Given the description of an element on the screen output the (x, y) to click on. 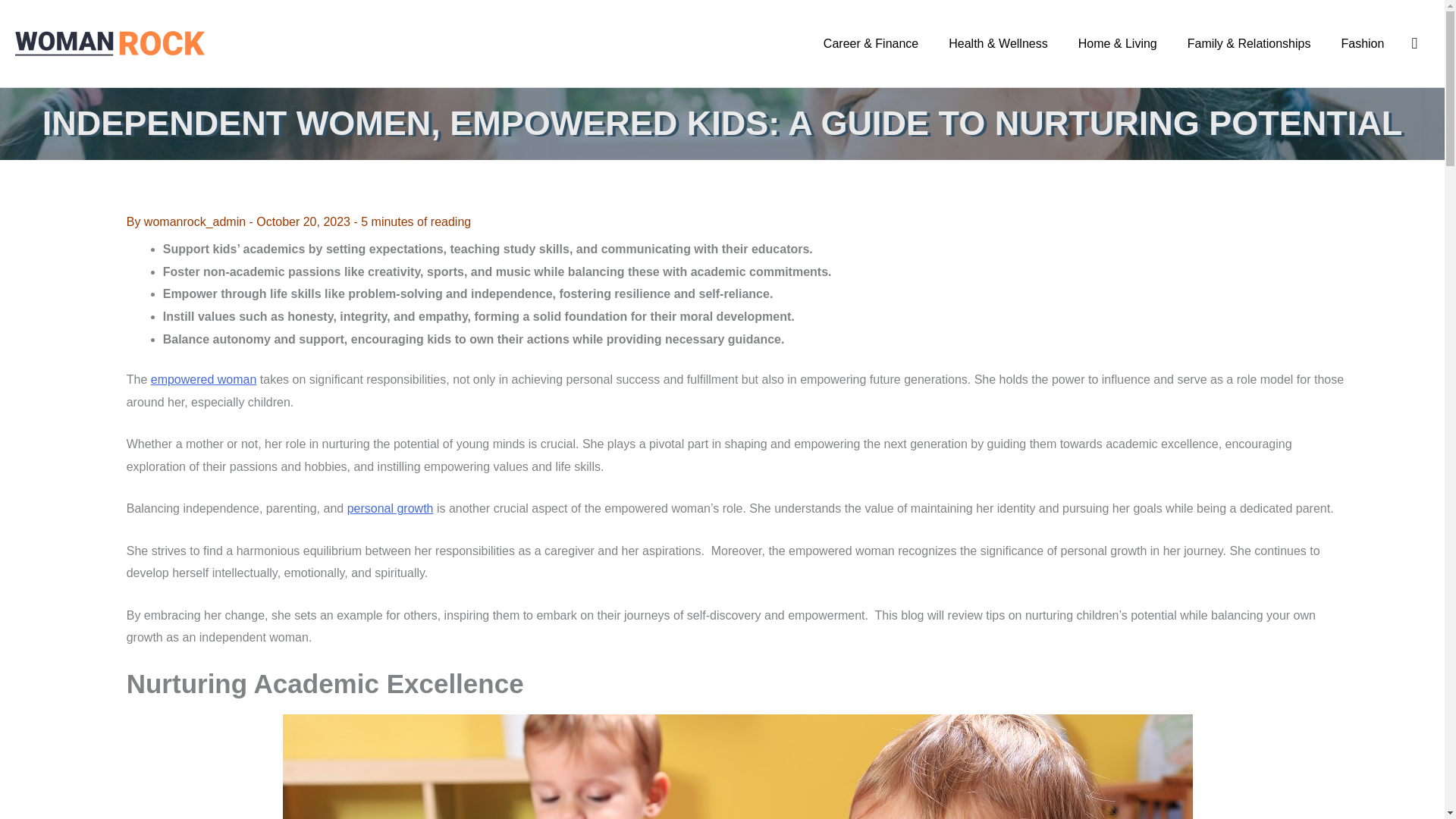
empowered woman (204, 379)
Search (1413, 43)
personal growth (390, 508)
Fashion (1361, 43)
